Given the description of an element on the screen output the (x, y) to click on. 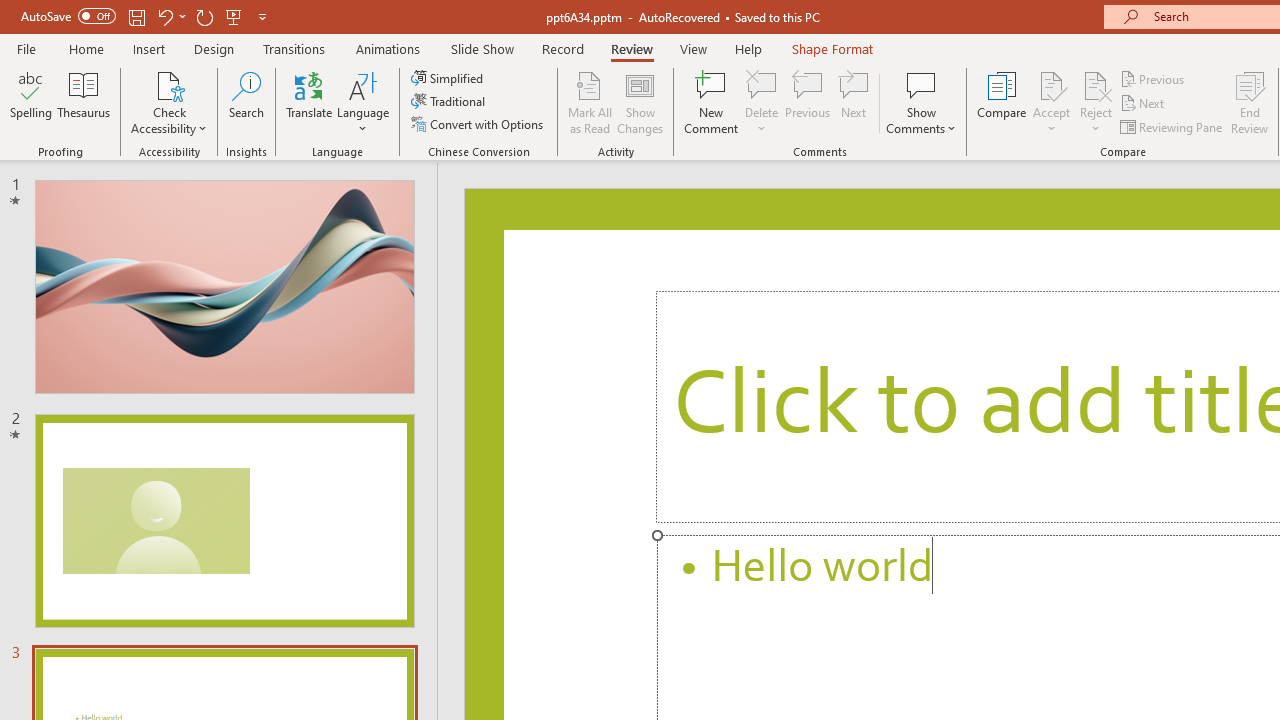
Thesaurus... (83, 102)
System (10, 11)
Transitions (294, 48)
Accept Change (1051, 84)
Design (214, 48)
Show Changes (639, 102)
Accept (1051, 102)
From Beginning (234, 15)
Undo (170, 15)
Undo (164, 15)
Language (363, 102)
End Review (1249, 102)
More Options (1096, 121)
Reviewing Pane (1172, 126)
Simplified (449, 78)
